Given the description of an element on the screen output the (x, y) to click on. 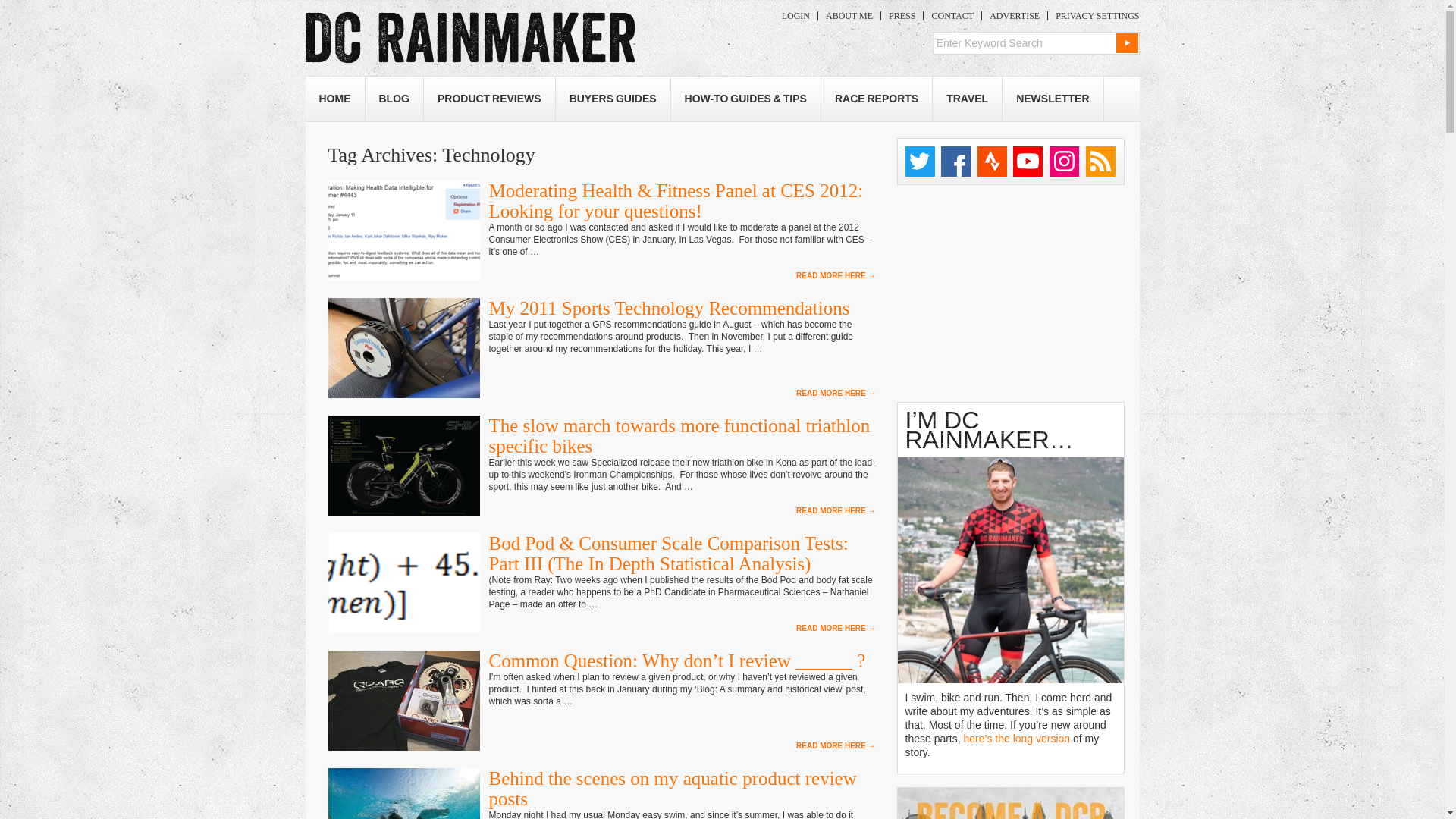
Search (1127, 43)
Permalink to My 2011 Sports Technology Recommendations (667, 308)
BUYERS GUIDES (612, 98)
LOGIN (795, 15)
BLOG (394, 98)
ADVERTISE (1013, 15)
PRESS (901, 15)
CONTACT (952, 15)
Search (1127, 43)
Enter Keyword Search (1023, 43)
ABOUT ME (849, 15)
PRIVACY SETTINGS (1093, 15)
PRODUCT REVIEWS (488, 98)
